Given the description of an element on the screen output the (x, y) to click on. 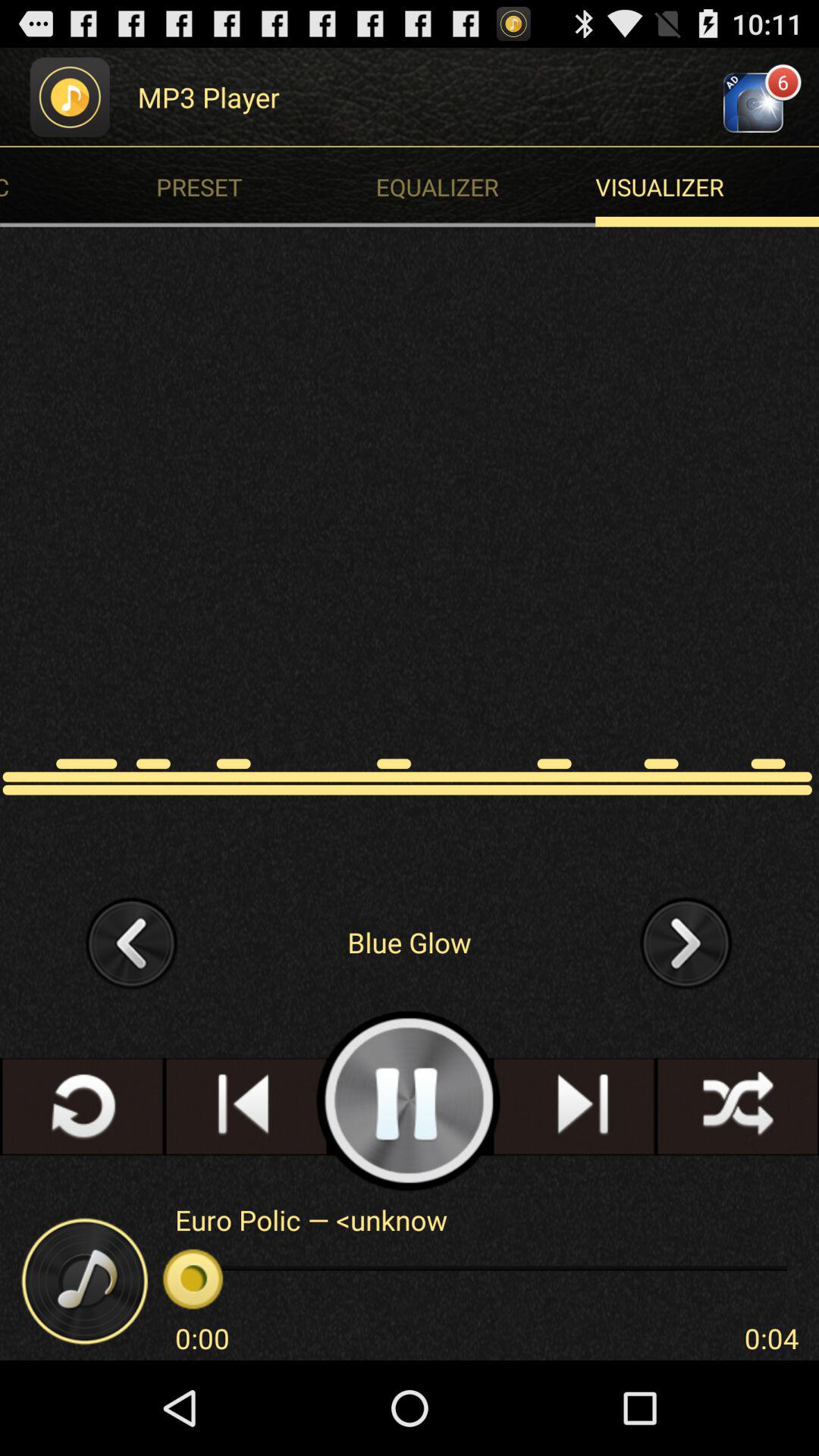
scroll until the equalizer icon (489, 186)
